Given the description of an element on the screen output the (x, y) to click on. 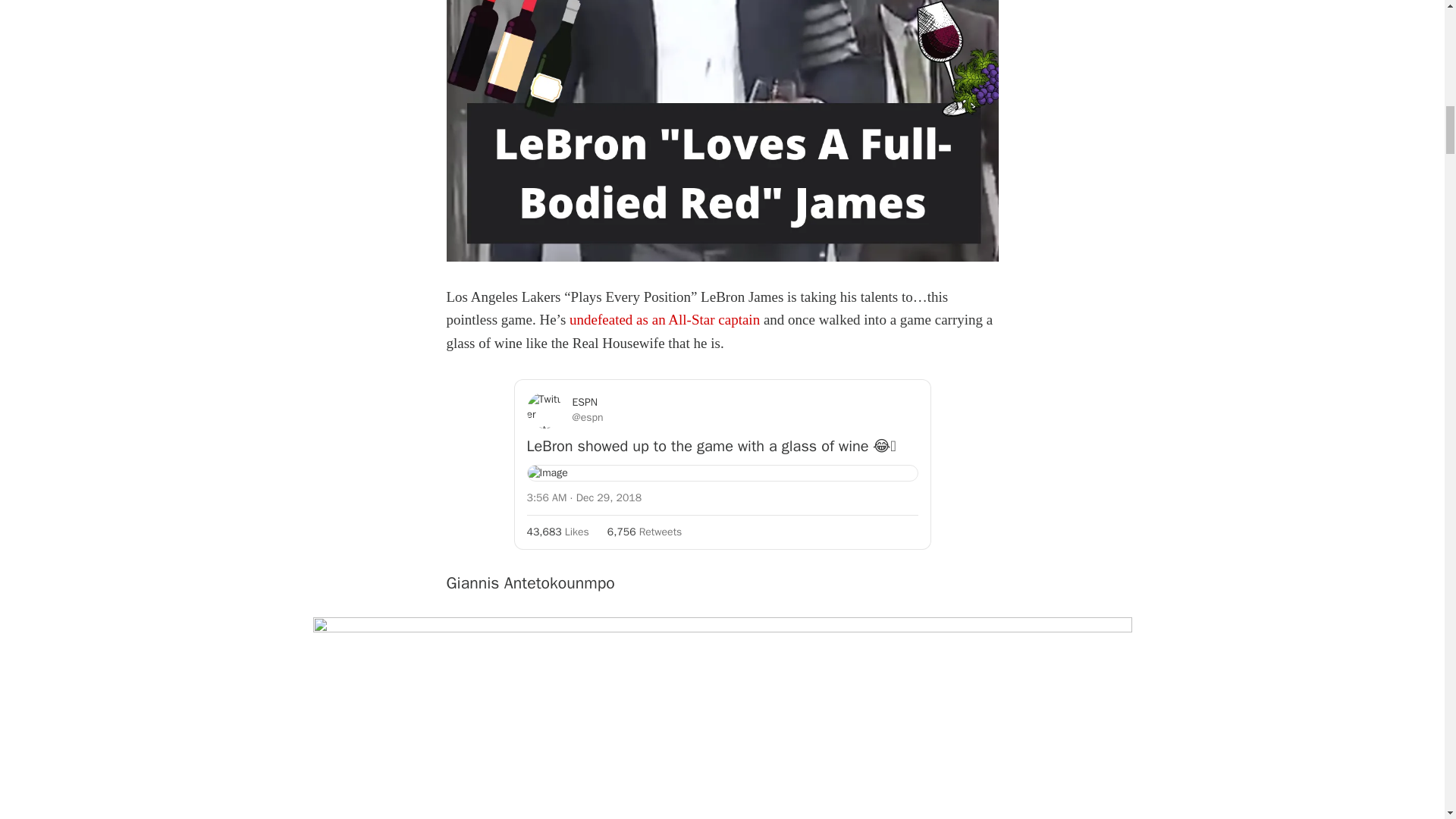
undefeated as an All-Star captain (664, 319)
